Given the description of an element on the screen output the (x, y) to click on. 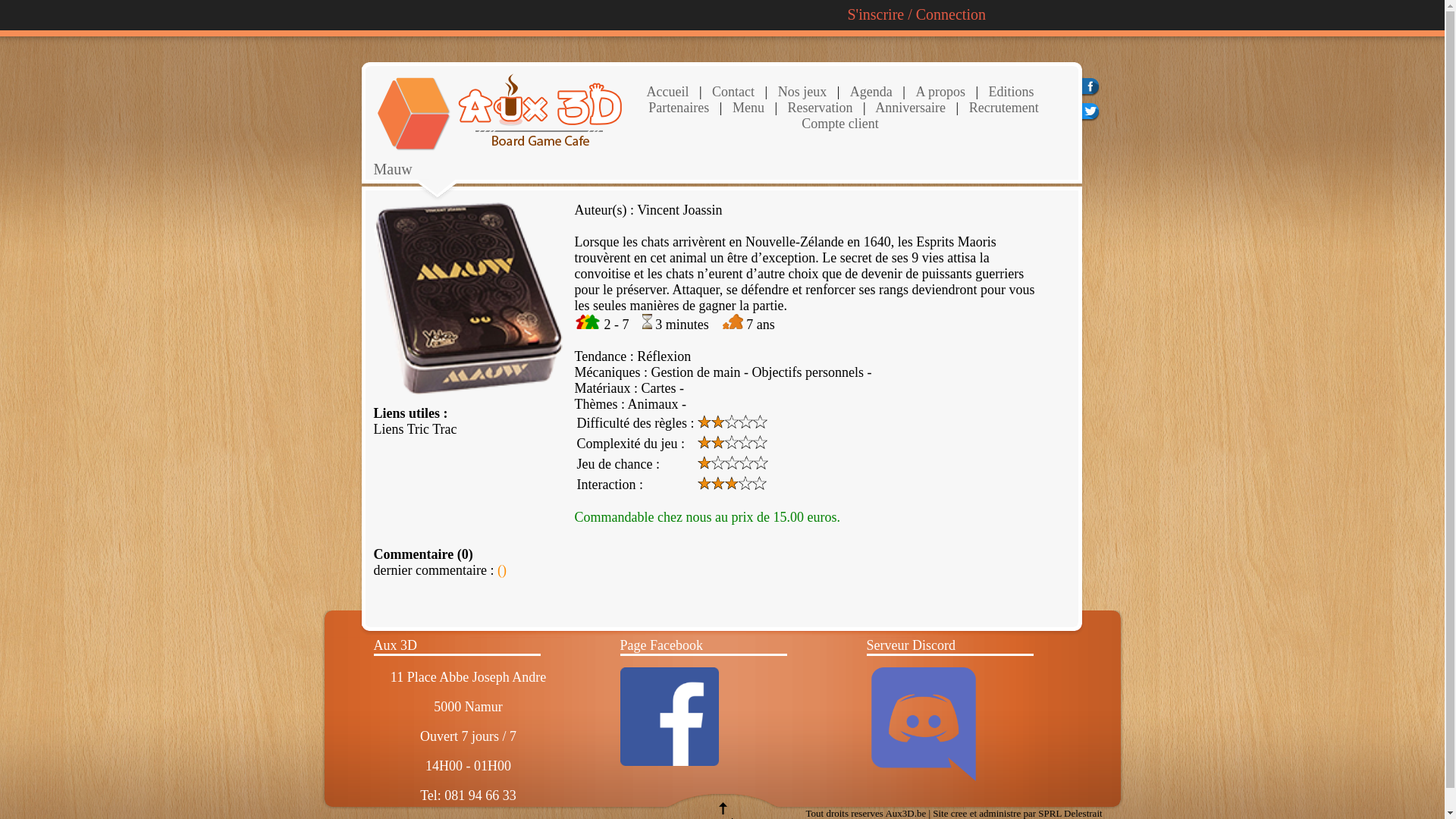
Liens Tric Trac Element type: text (414, 428)
Accueil Element type: text (667, 91)
Aux 3D Element type: text (395, 644)
Reservation Element type: text (818, 107)
nombre de joueurs Element type: hover (587, 324)
Menu Element type: text (748, 107)
Contact Element type: text (732, 91)
Partenaires Element type: text (678, 107)
Editions Element type: text (1011, 91)
S'inscrire / Connection Element type: text (916, 14)
Agenda Element type: text (871, 91)
Compte client Element type: text (839, 123)
Recrutement Element type: text (1001, 107)
Nos jeux Element type: text (800, 91)
Anniversaire Element type: text (908, 107)
A propos Element type: text (940, 91)
